Given the description of an element on the screen output the (x, y) to click on. 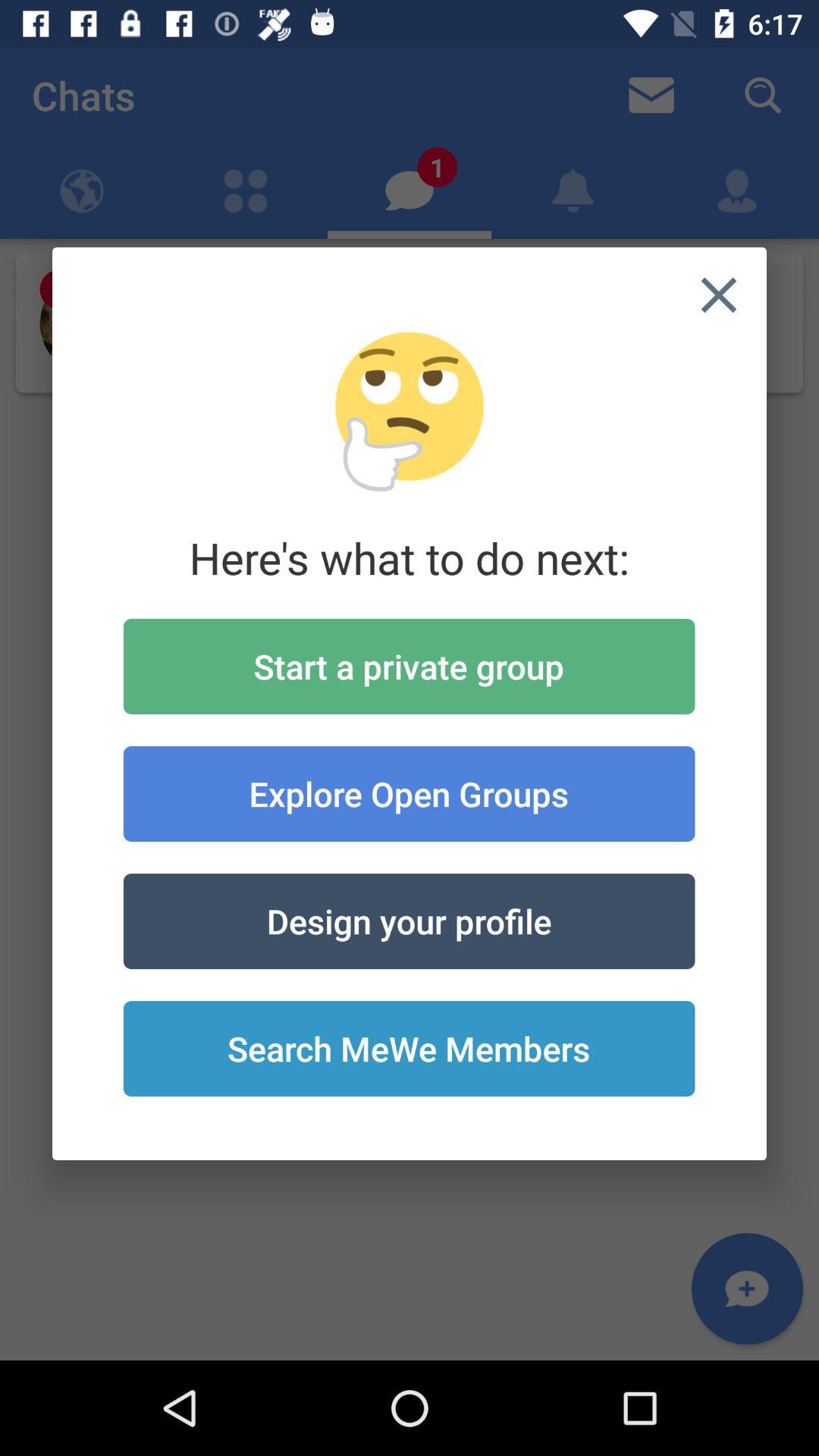
open icon below the design your profile icon (409, 1048)
